Given the description of an element on the screen output the (x, y) to click on. 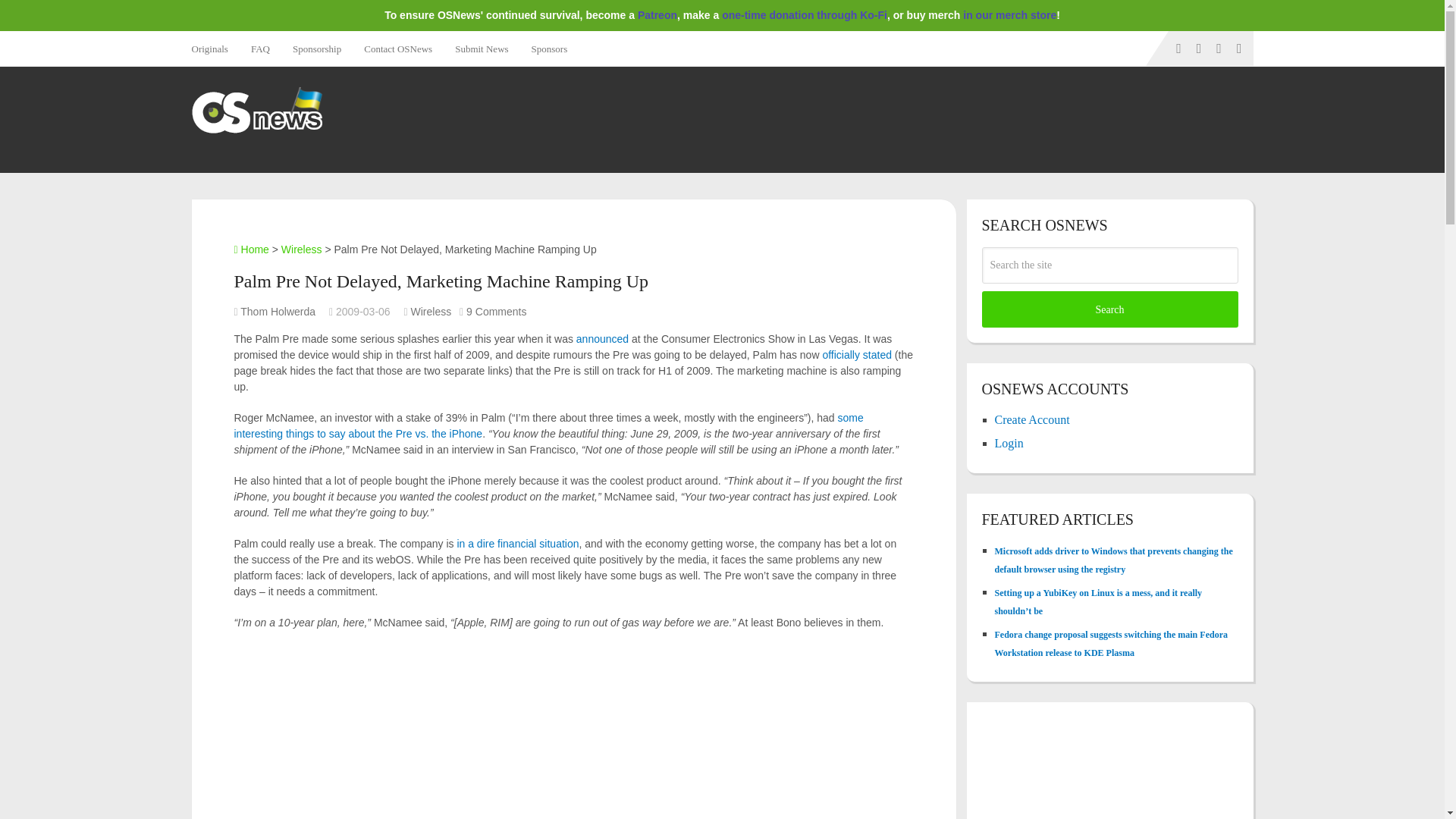
View all posts in Wireless (430, 311)
Submit News (481, 48)
Search (1109, 309)
announced (602, 338)
FAQ (260, 48)
in a dire financial situation (517, 543)
Create Account (1032, 419)
stated (877, 354)
 Home (249, 249)
9 Comments (495, 311)
some interesting things to say about the Pre vs. the iPhone (547, 425)
Wireless (430, 311)
Sponsorship (316, 48)
Contact OSNews (398, 48)
Search (1109, 309)
